Given the description of an element on the screen output the (x, y) to click on. 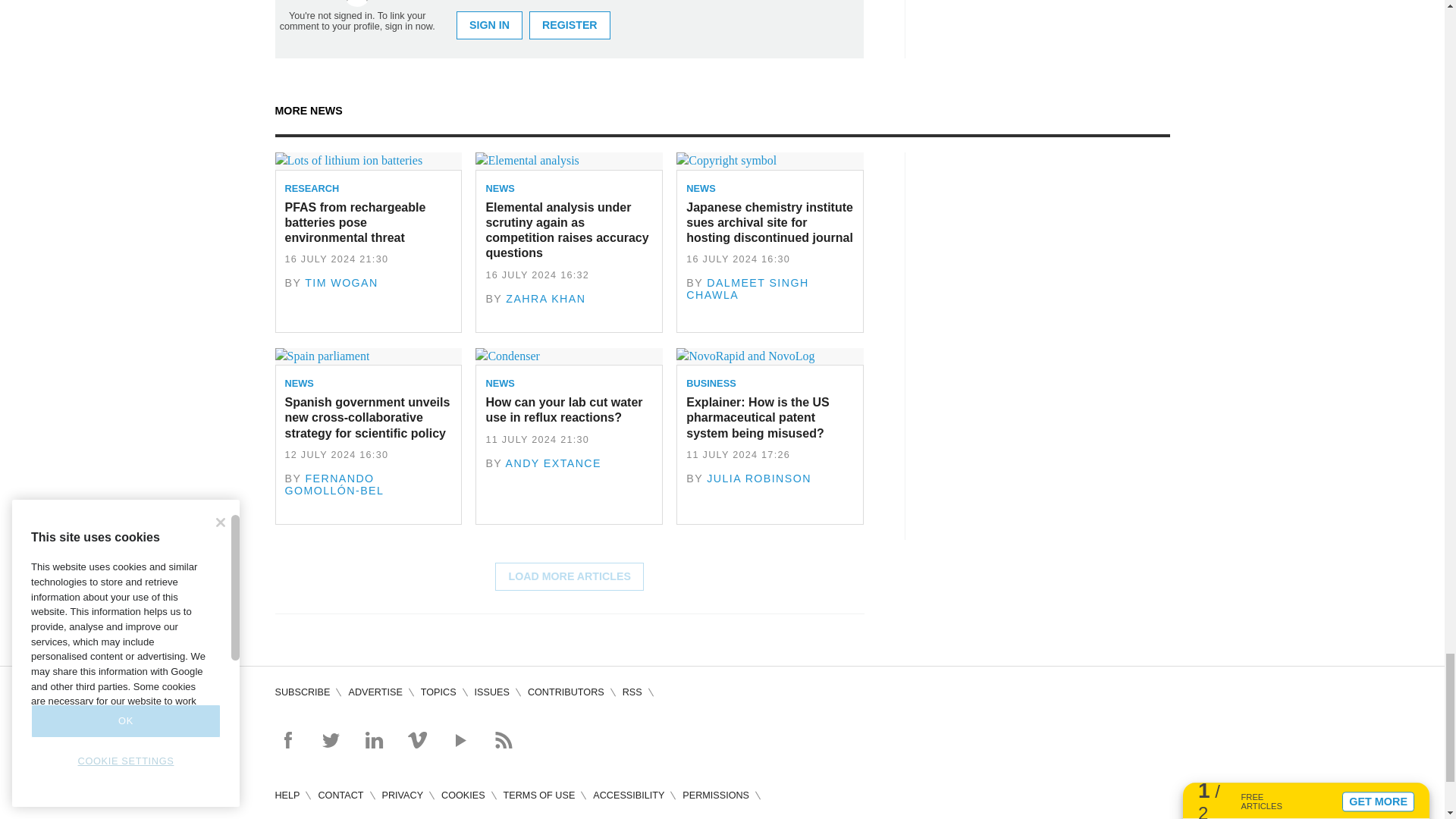
Follow on Twitter (330, 740)
Follow on Facebook (287, 740)
